Given the description of an element on the screen output the (x, y) to click on. 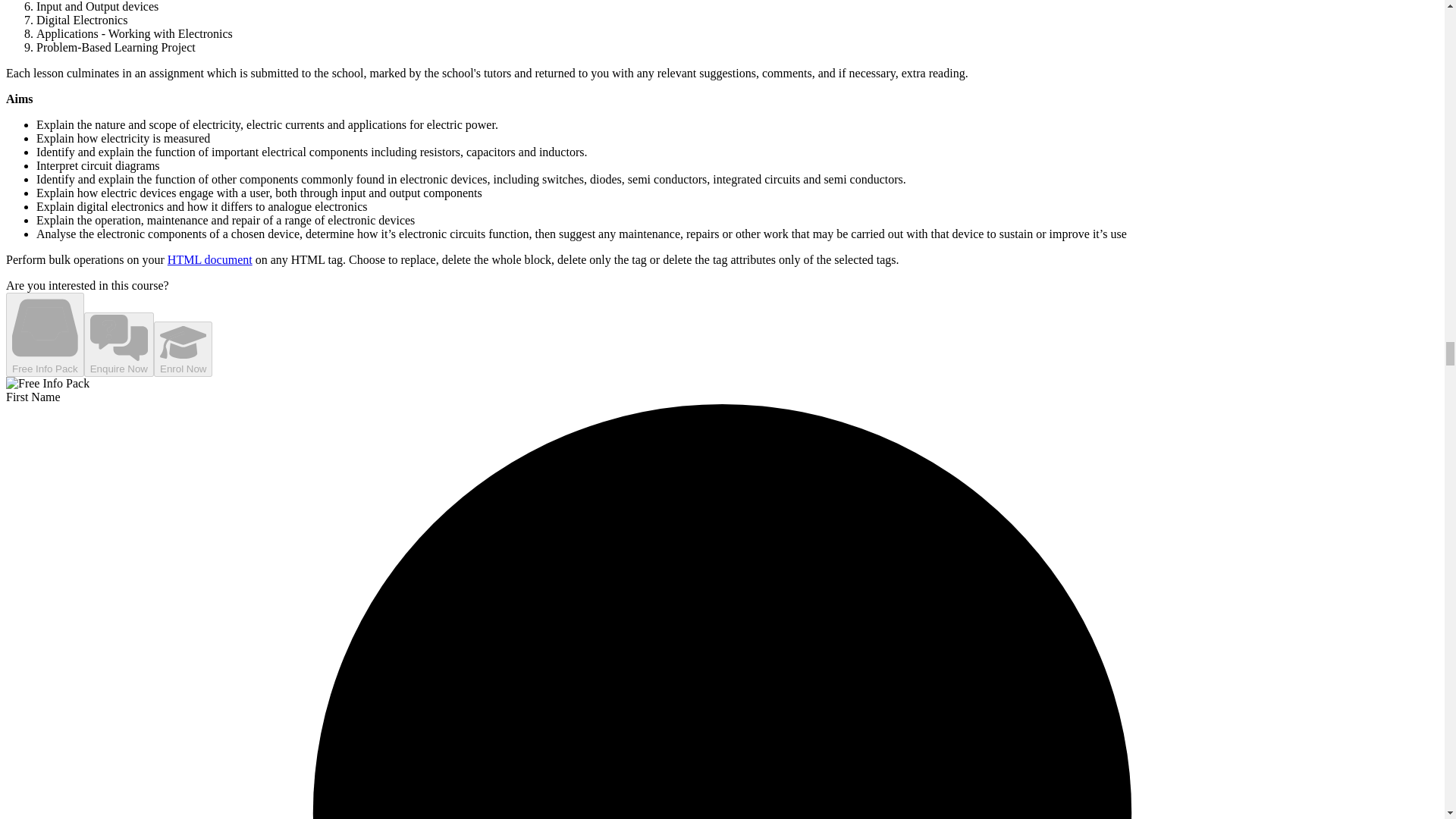
HTML document (209, 259)
Enrol Now (183, 348)
Free Info Pack (44, 334)
Enquire Now (119, 344)
